Given the description of an element on the screen output the (x, y) to click on. 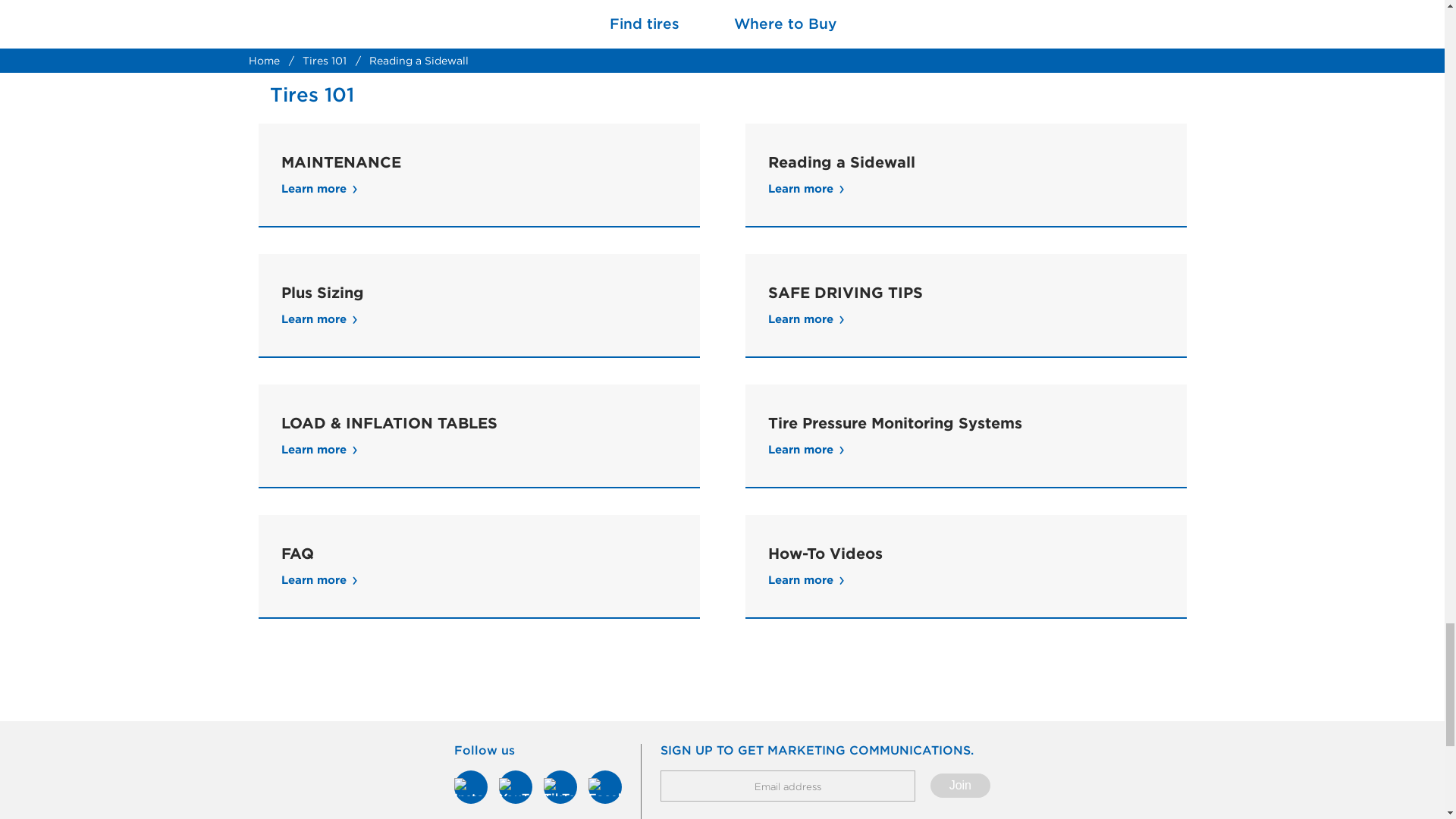
facebook (604, 786)
tiktok (559, 786)
youtube (515, 786)
email (788, 785)
instagram (470, 786)
